Given the description of an element on the screen output the (x, y) to click on. 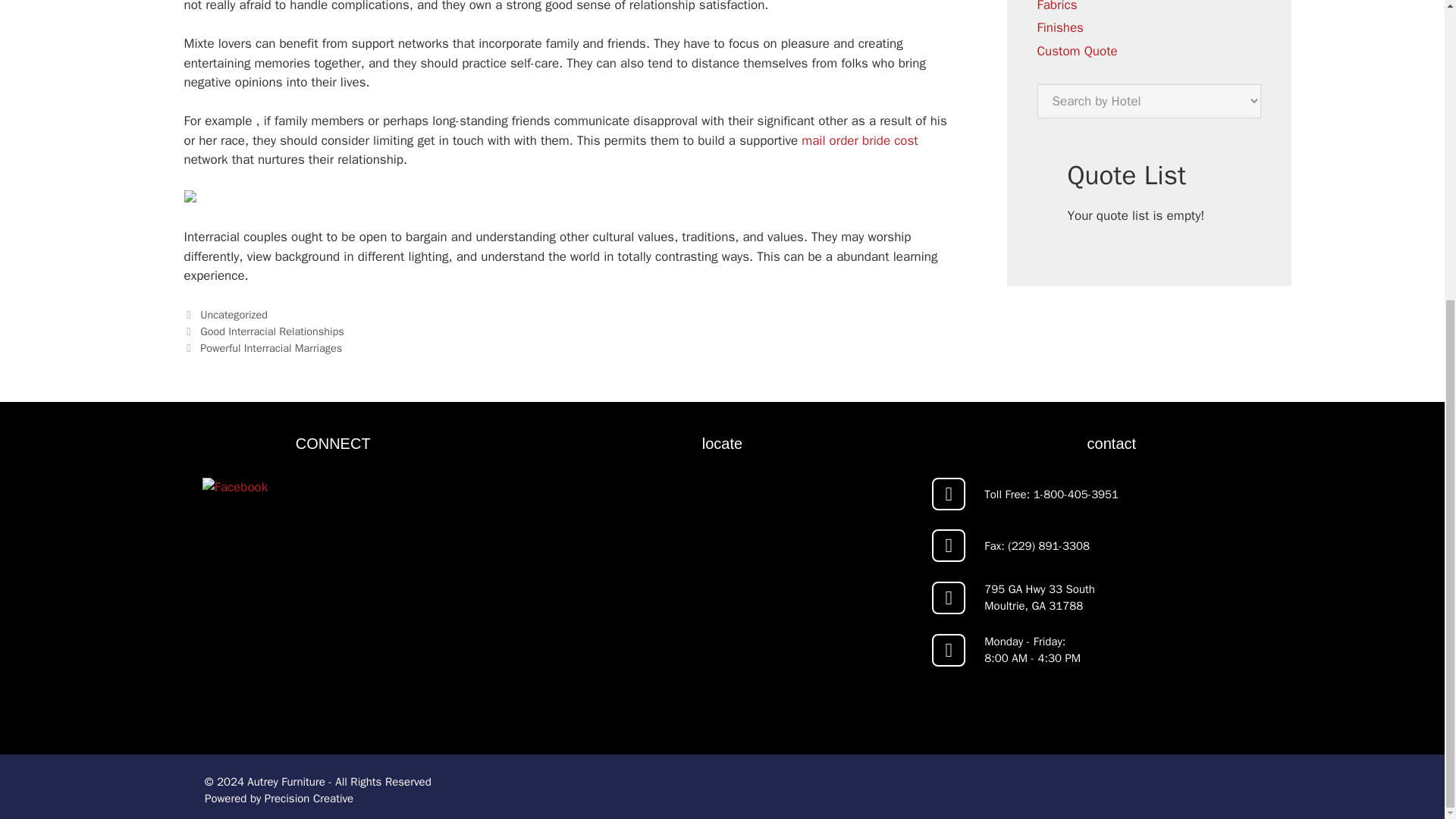
mail order bride cost (859, 139)
Uncategorized (233, 314)
Powerful Interracial Marriages (271, 347)
Visit us on Facebook (332, 598)
Good Interracial Relationships (271, 331)
